Given the description of an element on the screen output the (x, y) to click on. 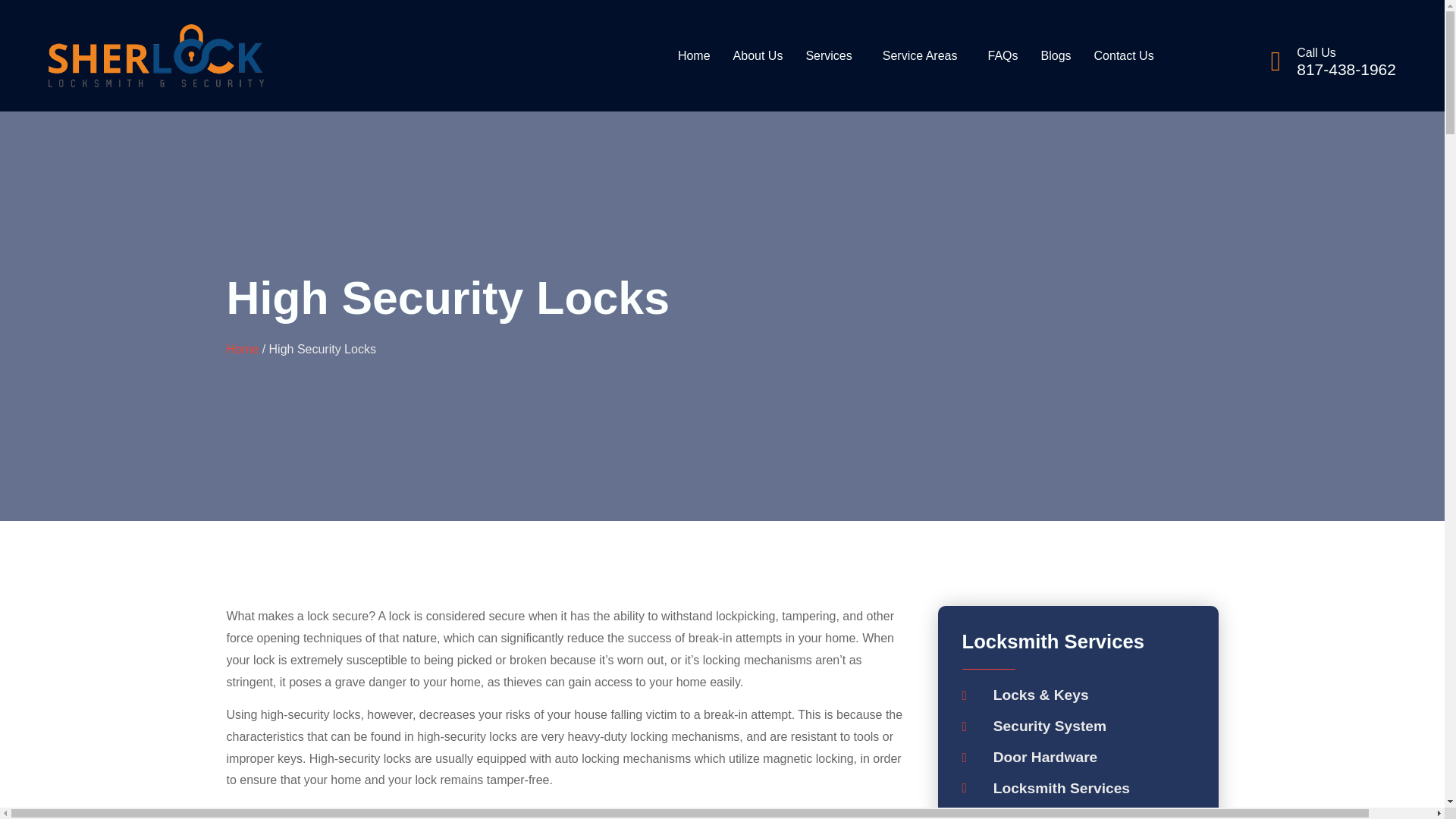
Locksmith Services (1076, 789)
FAQs (1002, 55)
About Us (758, 55)
Home (694, 55)
Door Hardware (1076, 757)
Security System (1076, 726)
Blogs (1056, 55)
Service Areas (923, 55)
Security Cameras (1076, 813)
Services (831, 55)
